Given the description of an element on the screen output the (x, y) to click on. 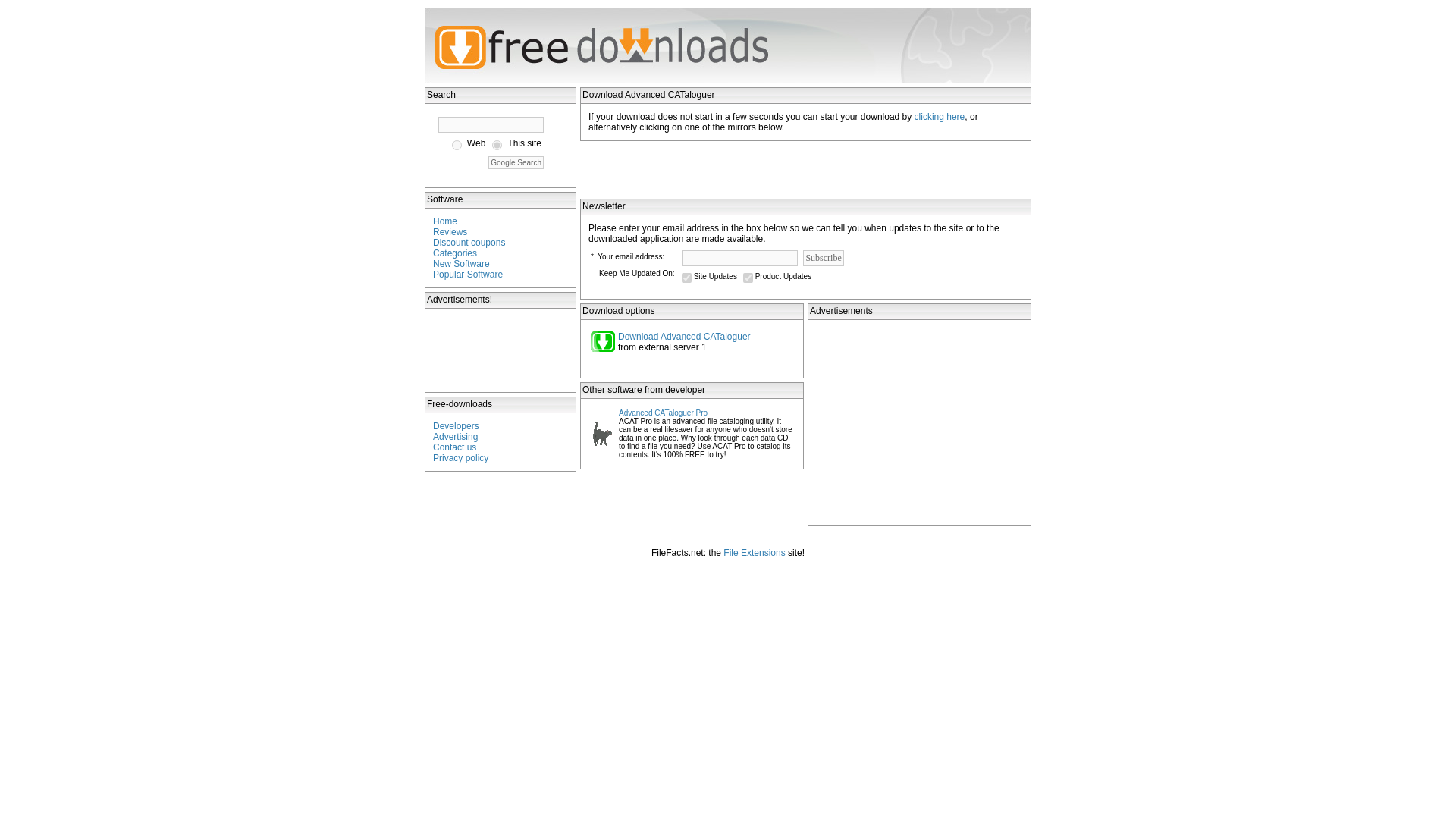
Google Search (515, 162)
Developers (455, 425)
Contact us (454, 447)
Advertising (454, 436)
clicking here (939, 116)
Download Advanced CATaloguer (684, 336)
Home (444, 221)
Advanced CATaloguer Pro (662, 412)
New Software (460, 263)
Discount coupons (468, 242)
